Given the description of an element on the screen output the (x, y) to click on. 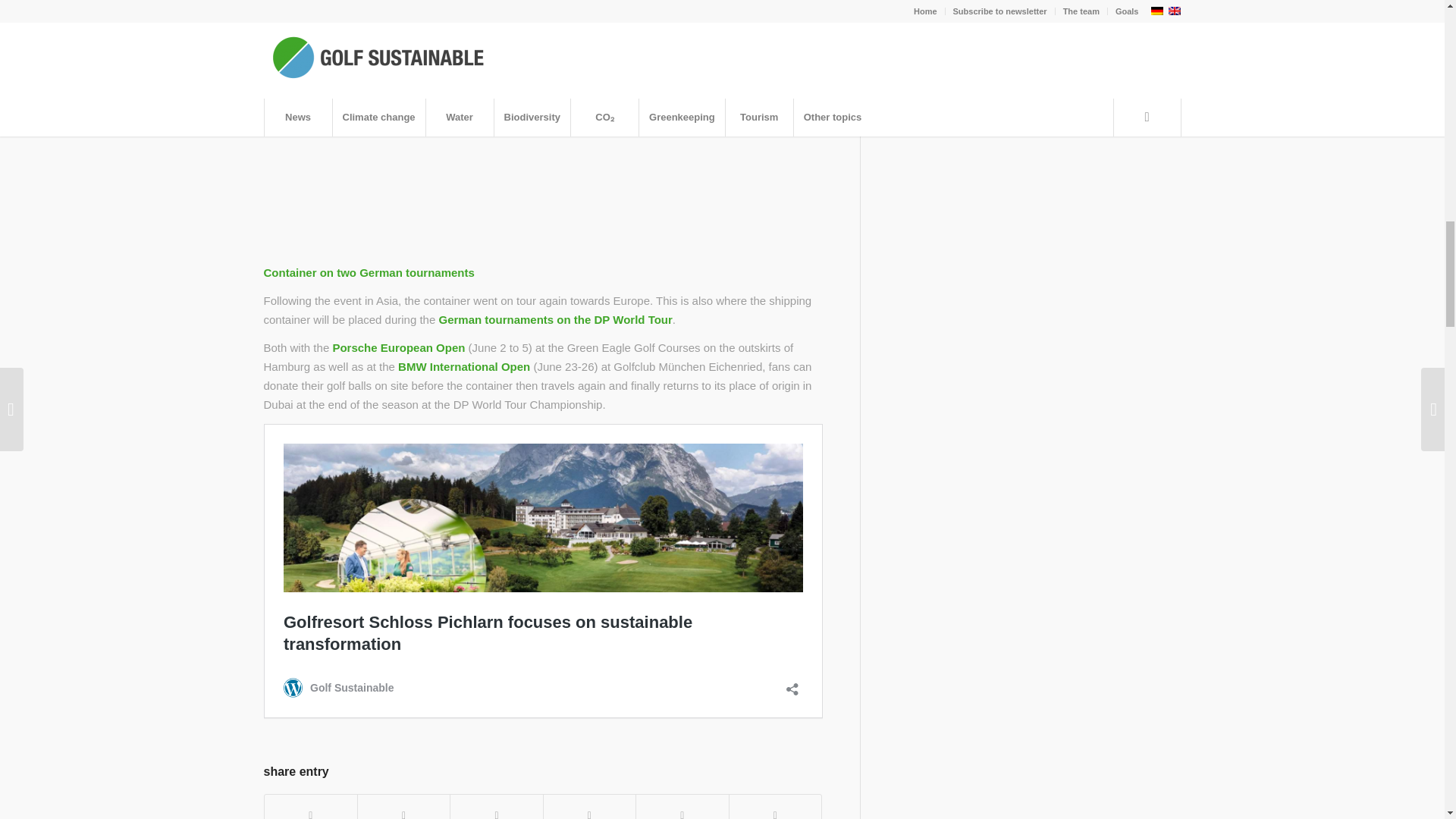
Container mit Golfball-Spenden reist um die Welt (542, 136)
